Given the description of an element on the screen output the (x, y) to click on. 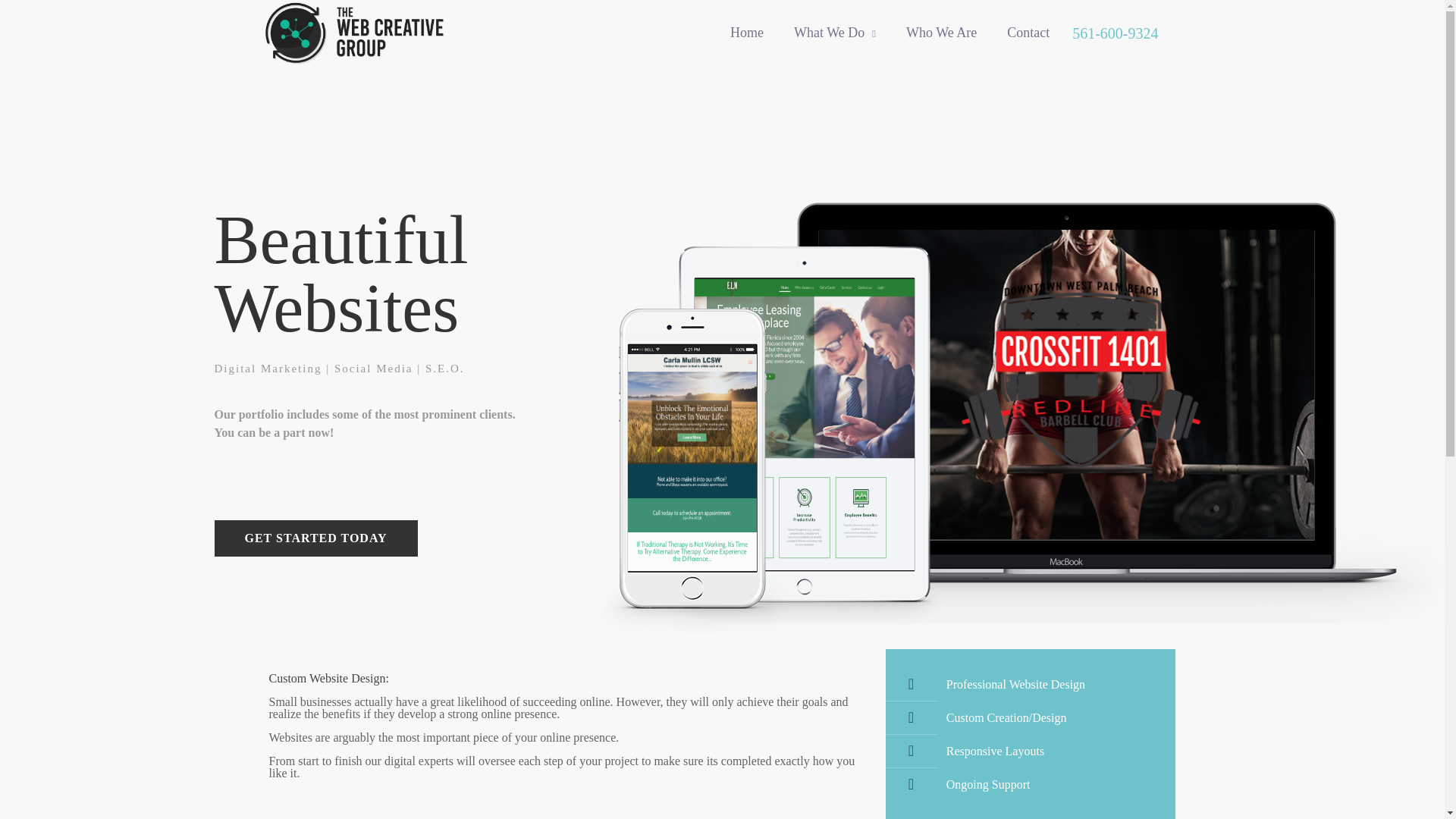
Home (746, 32)
What We Do (834, 32)
Contact (1027, 32)
Who We Are (941, 32)
